Given the description of an element on the screen output the (x, y) to click on. 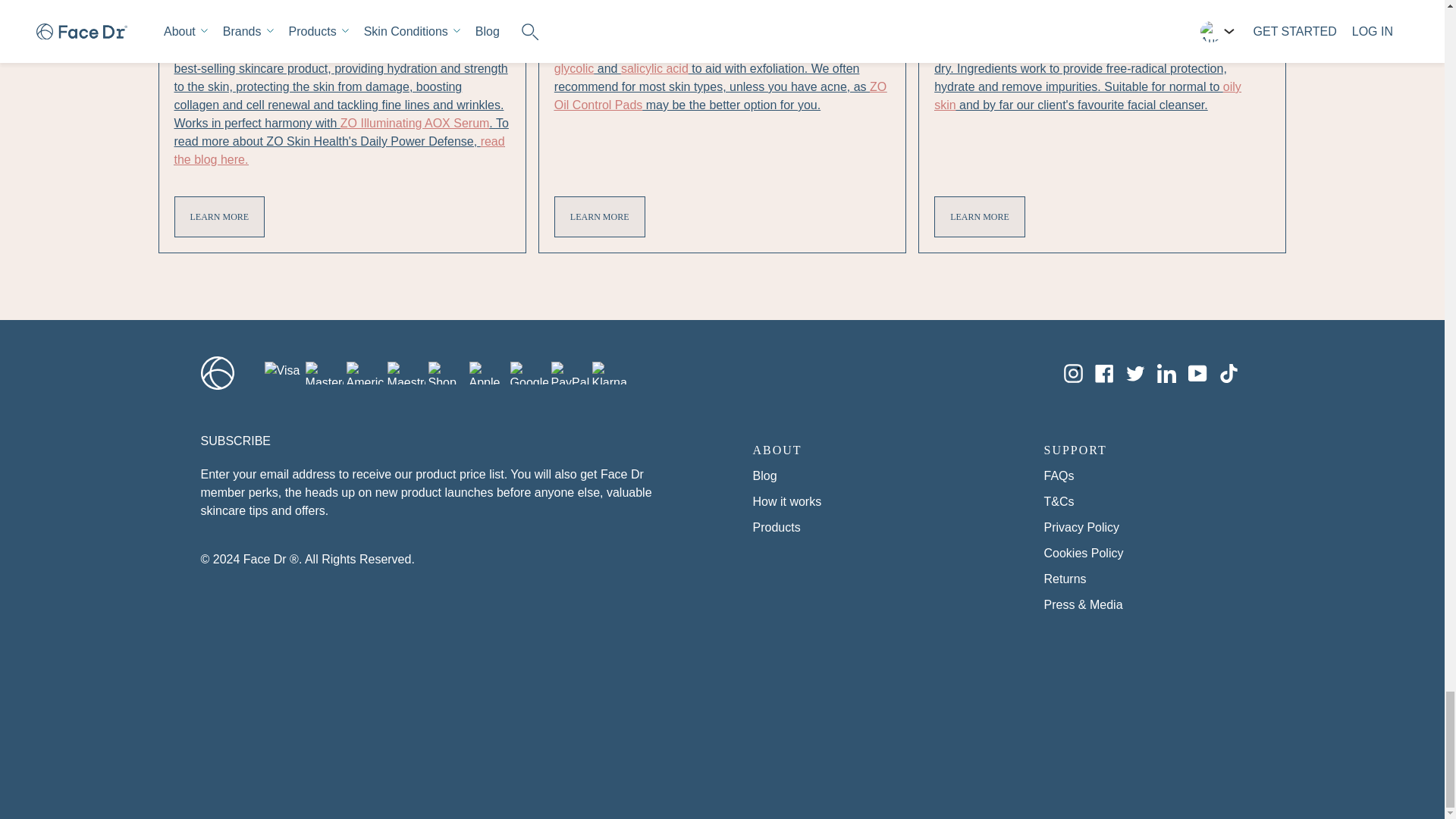
Exfoliant collection (576, 50)
What is glycolic acid and how does it work? (574, 68)
Read more about ZO Skin Health's Daily Power Defense (339, 150)
Learn more (219, 216)
ZO Skin Health Illuminating AOX Serum (414, 123)
What is it salicylic acid and what can it do for your skin? (654, 68)
